Given the description of an element on the screen output the (x, y) to click on. 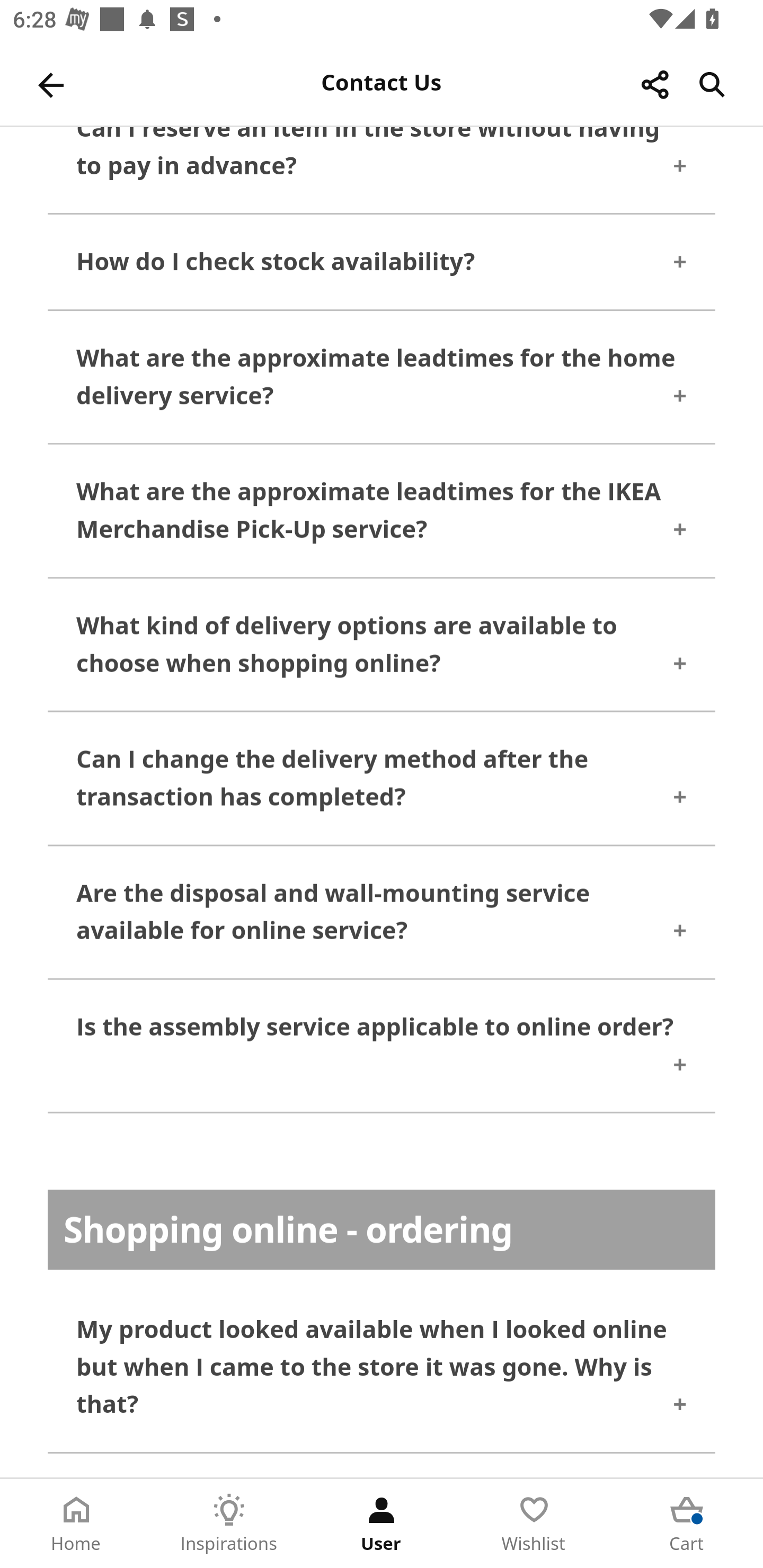
How do I check stock availability? + (381, 264)
Home
Tab 1 of 5 (76, 1522)
Inspirations
Tab 2 of 5 (228, 1522)
User
Tab 3 of 5 (381, 1522)
Wishlist
Tab 4 of 5 (533, 1522)
Cart
Tab 5 of 5 (686, 1522)
